Given the description of an element on the screen output the (x, y) to click on. 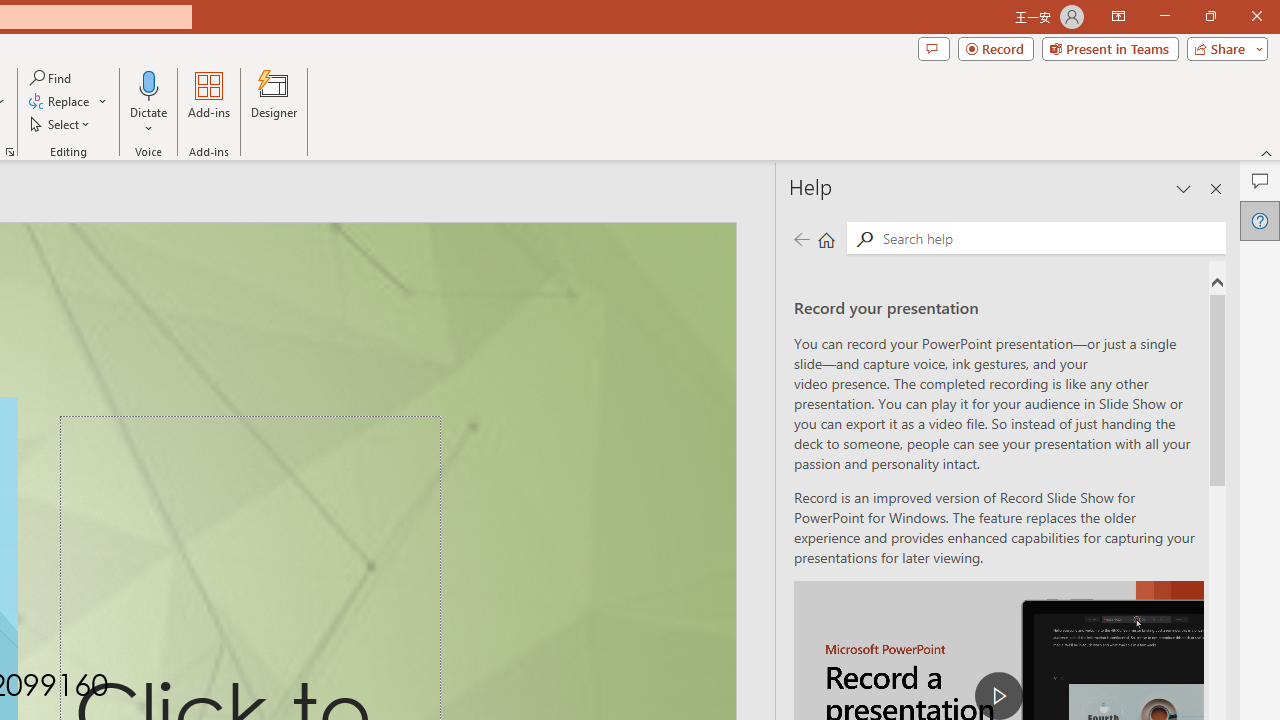
Previous page (801, 238)
